Given the description of an element on the screen output the (x, y) to click on. 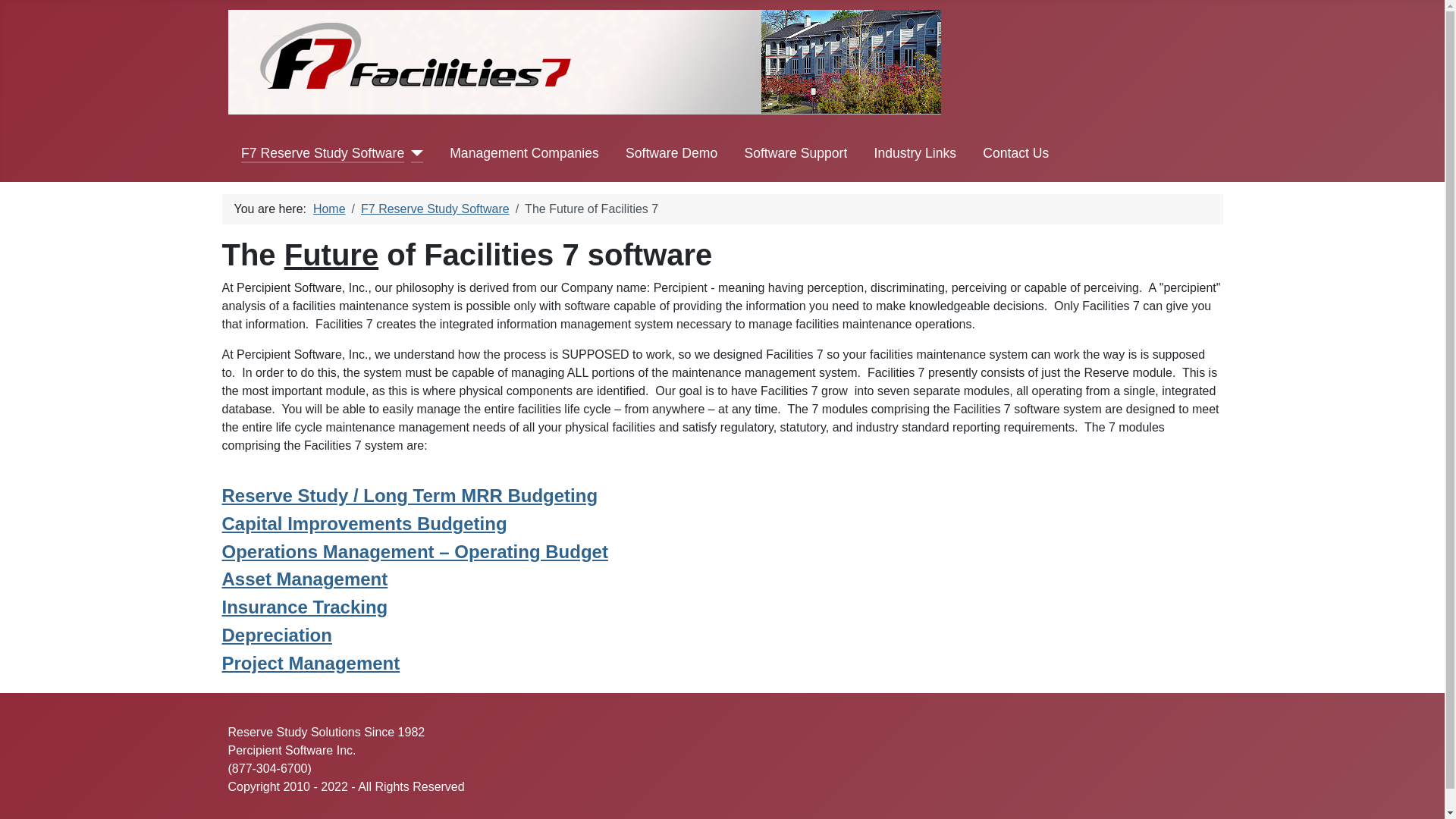
Industry Links (915, 152)
Project Management (309, 662)
Insurance Tracking (304, 607)
Software Support (795, 152)
Capital Improvements Budgeting (363, 523)
Software Demo (671, 152)
Contact Us (1015, 152)
Home (329, 208)
Asset Management (304, 578)
Depreciation (276, 634)
Management Companies (523, 152)
F7 Reserve Study Software (435, 208)
F7 Reserve Study Software (322, 152)
